Given the description of an element on the screen output the (x, y) to click on. 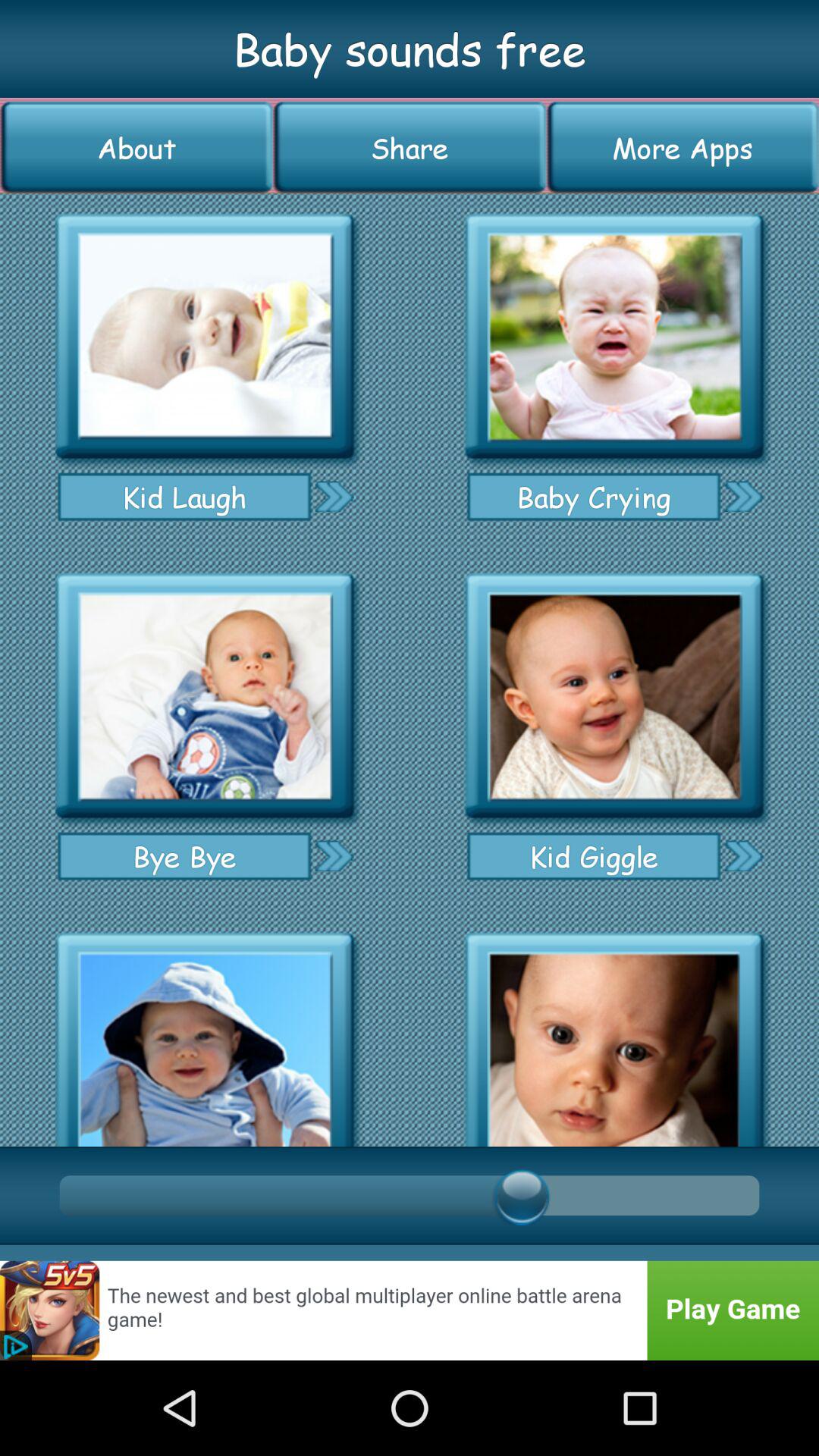
plays displayed sound (204, 336)
